Given the description of an element on the screen output the (x, y) to click on. 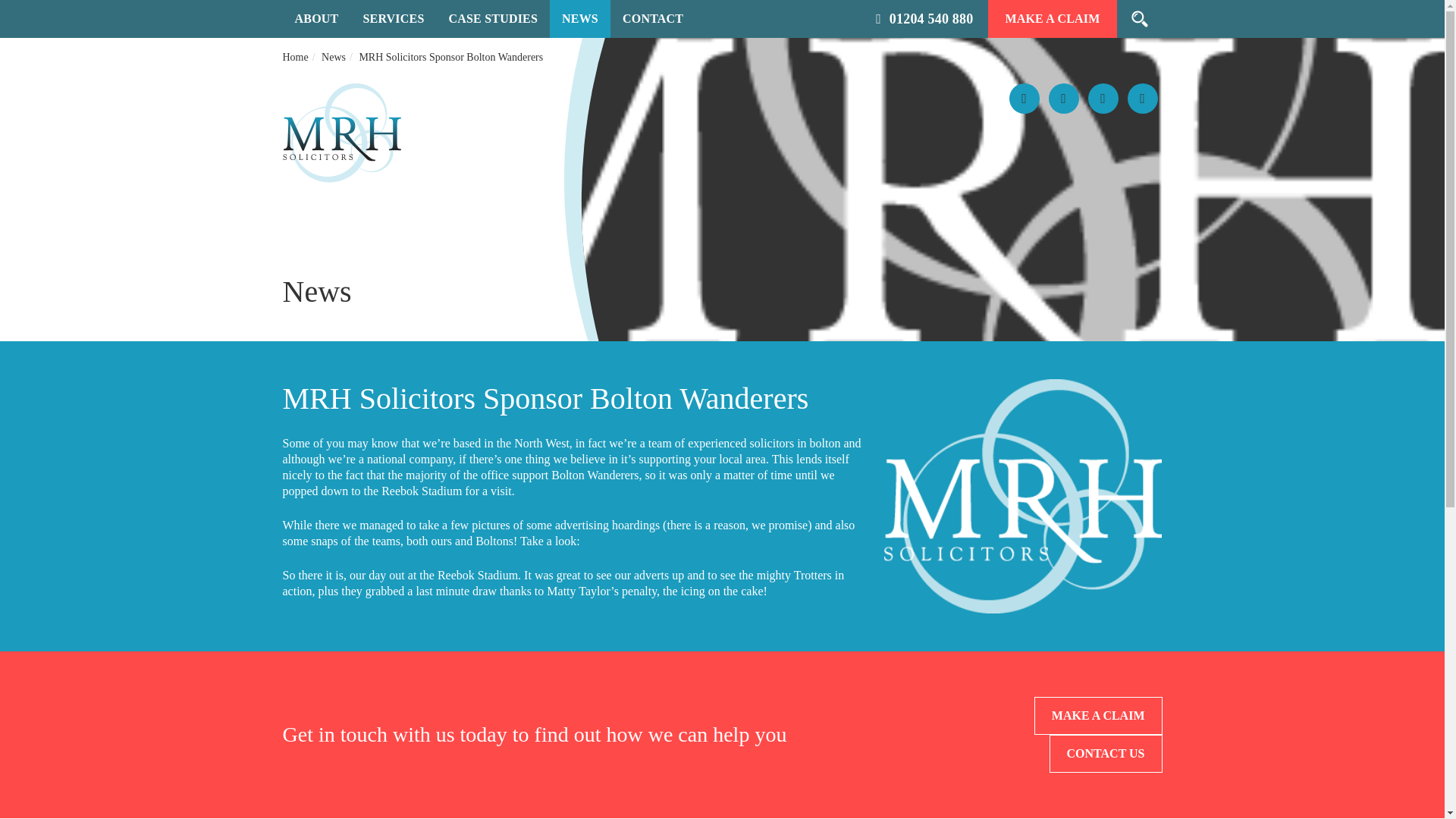
Go to News. (333, 57)
01204 540 880 (924, 18)
ABOUT (316, 18)
MAKE A CLAIM (1052, 18)
Go to MRH SOLICITORS. (294, 57)
CASE STUDIES (492, 18)
SERVICES (392, 18)
